Given the description of an element on the screen output the (x, y) to click on. 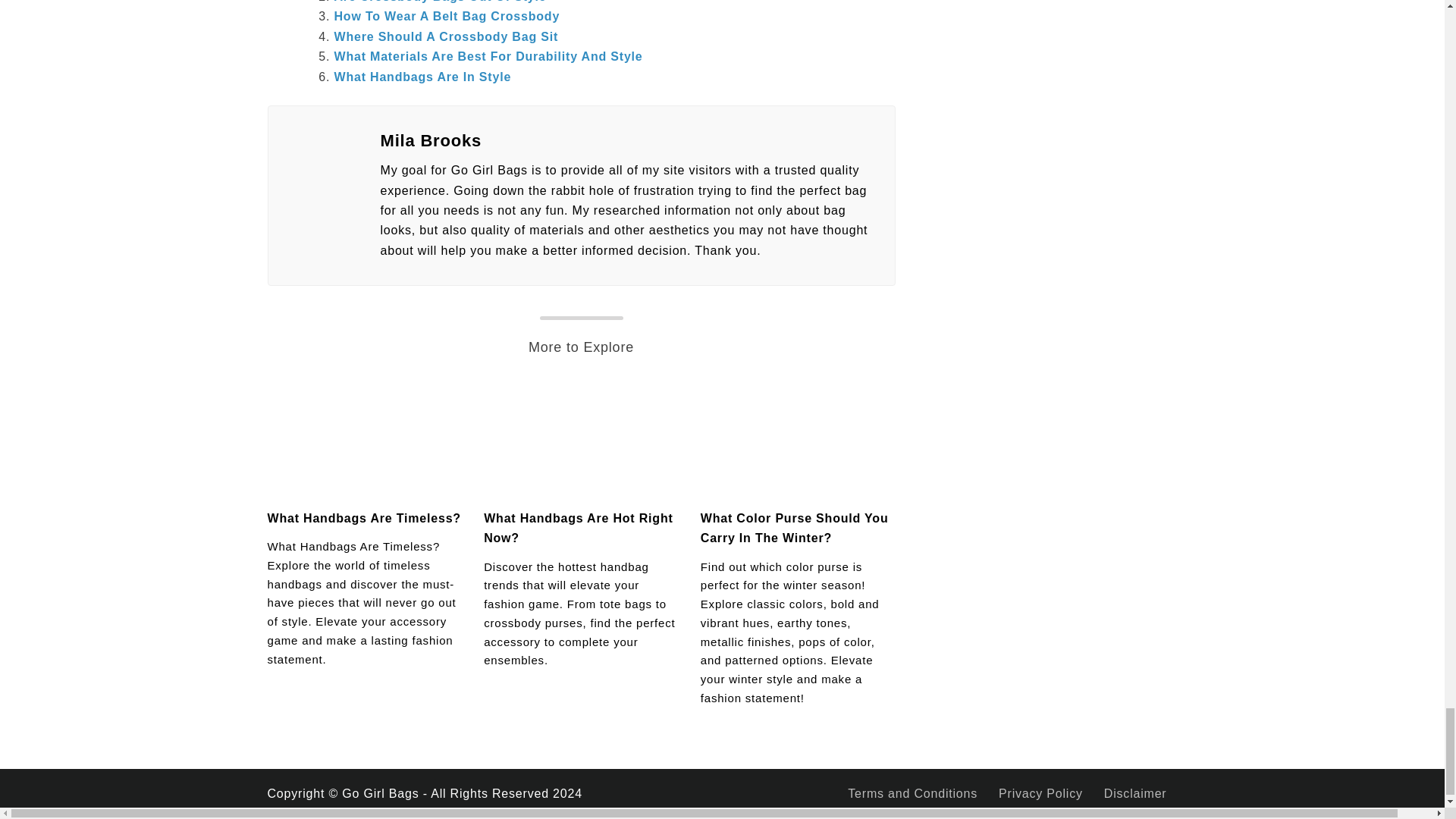
What Handbags Are In Style (422, 76)
How To Wear A Belt Bag Crossbody (446, 15)
Where Should A Crossbody Bag Sit (445, 36)
Are Crossbody Bags Out Of Style (439, 1)
What Materials Are Best For Durability And Style (487, 56)
